Given the description of an element on the screen output the (x, y) to click on. 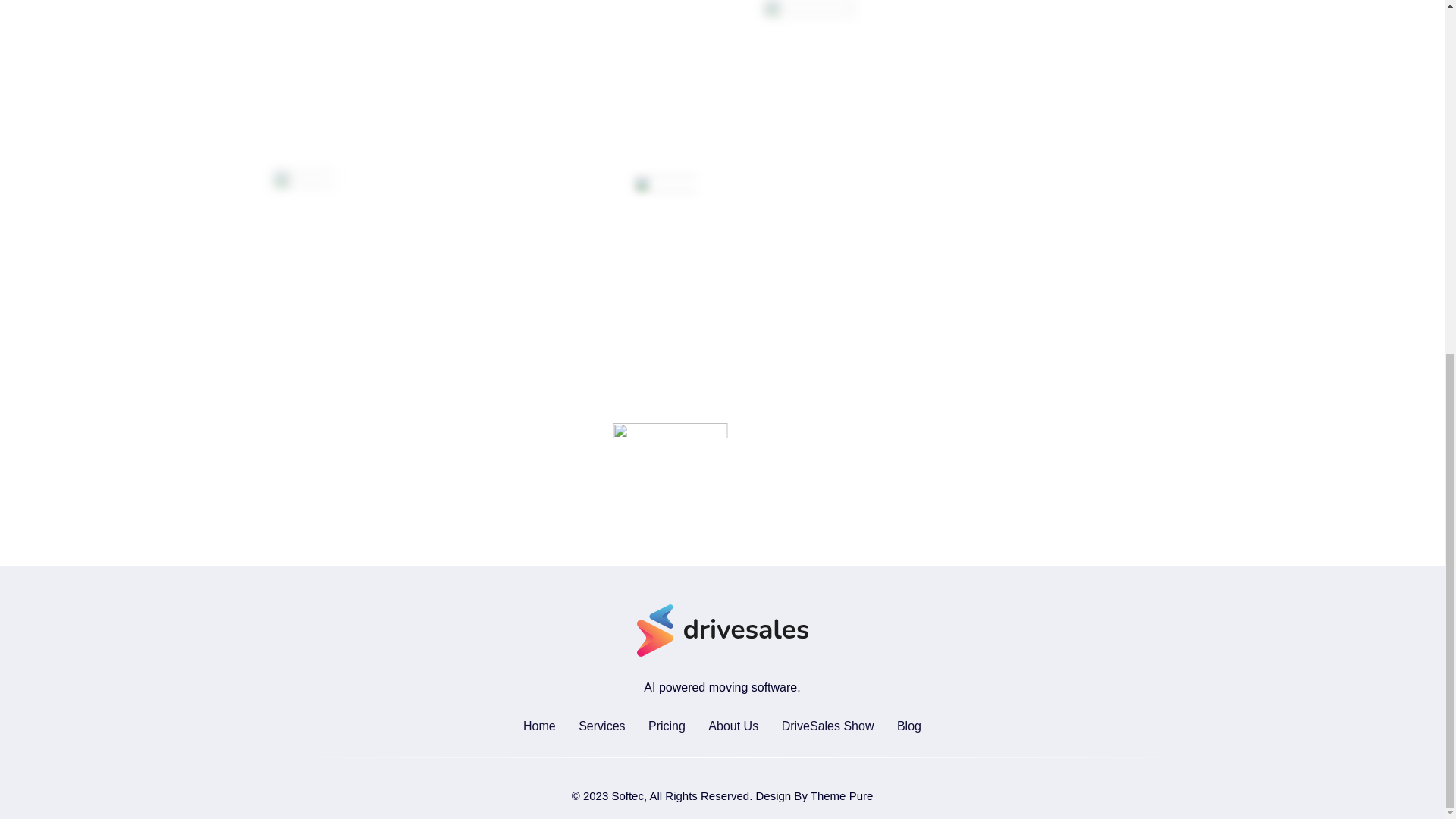
Blog (908, 725)
Services (601, 725)
DriveSales Show (828, 725)
Pricing (666, 725)
About Us (732, 725)
Home (539, 725)
